Given the description of an element on the screen output the (x, y) to click on. 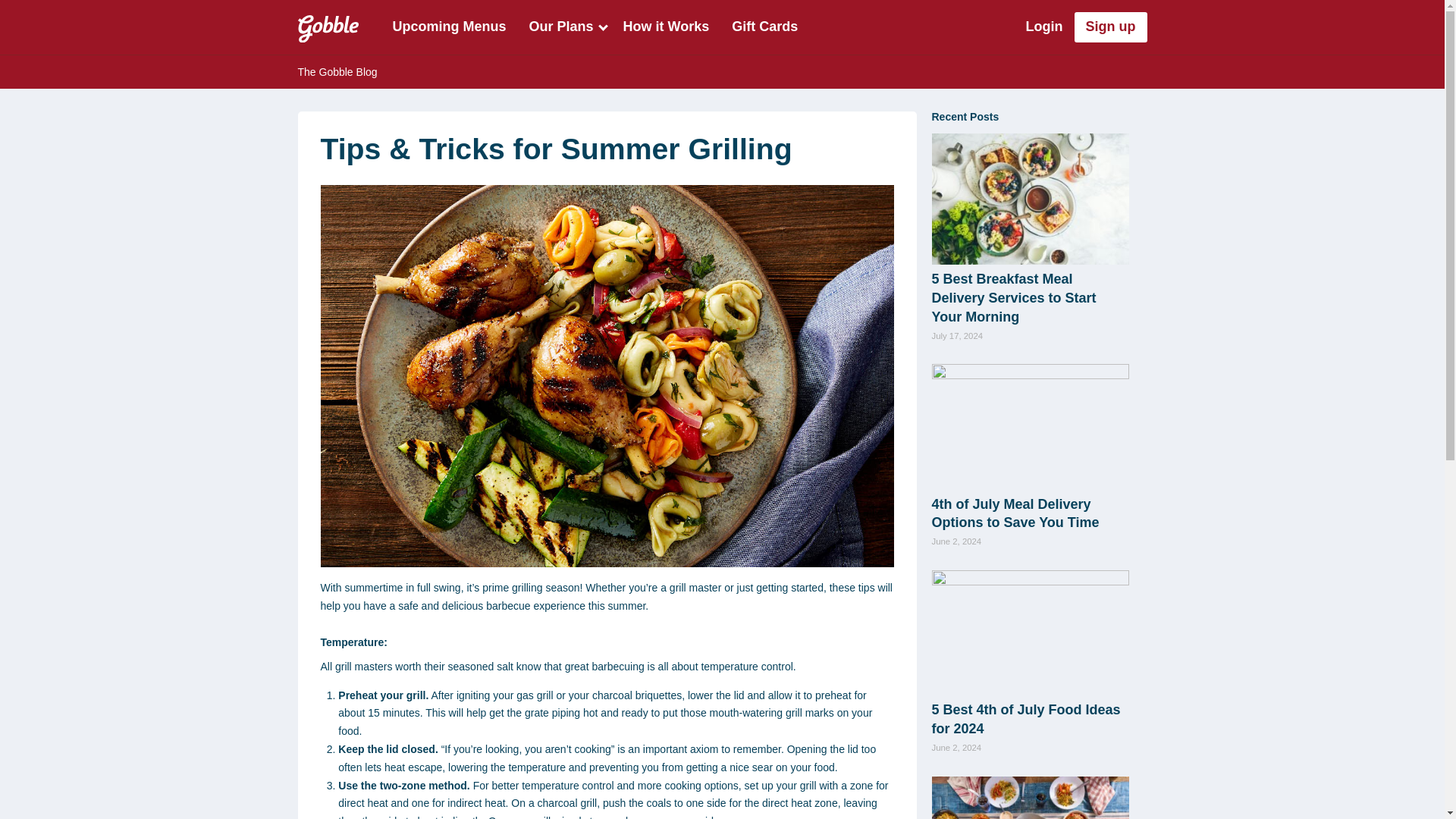
4th of July Meal Delivery Options to Save You Time (1015, 513)
Our Plans (564, 27)
Login (1044, 27)
Gift Cards (764, 27)
How it Works (665, 27)
The Gobble Blog (722, 71)
Skip to main content (76, 25)
Upcoming Menus (448, 27)
Sign up (1110, 27)
5 Best 4th of July Food Ideas for 2024 (1025, 718)
